Given the description of an element on the screen output the (x, y) to click on. 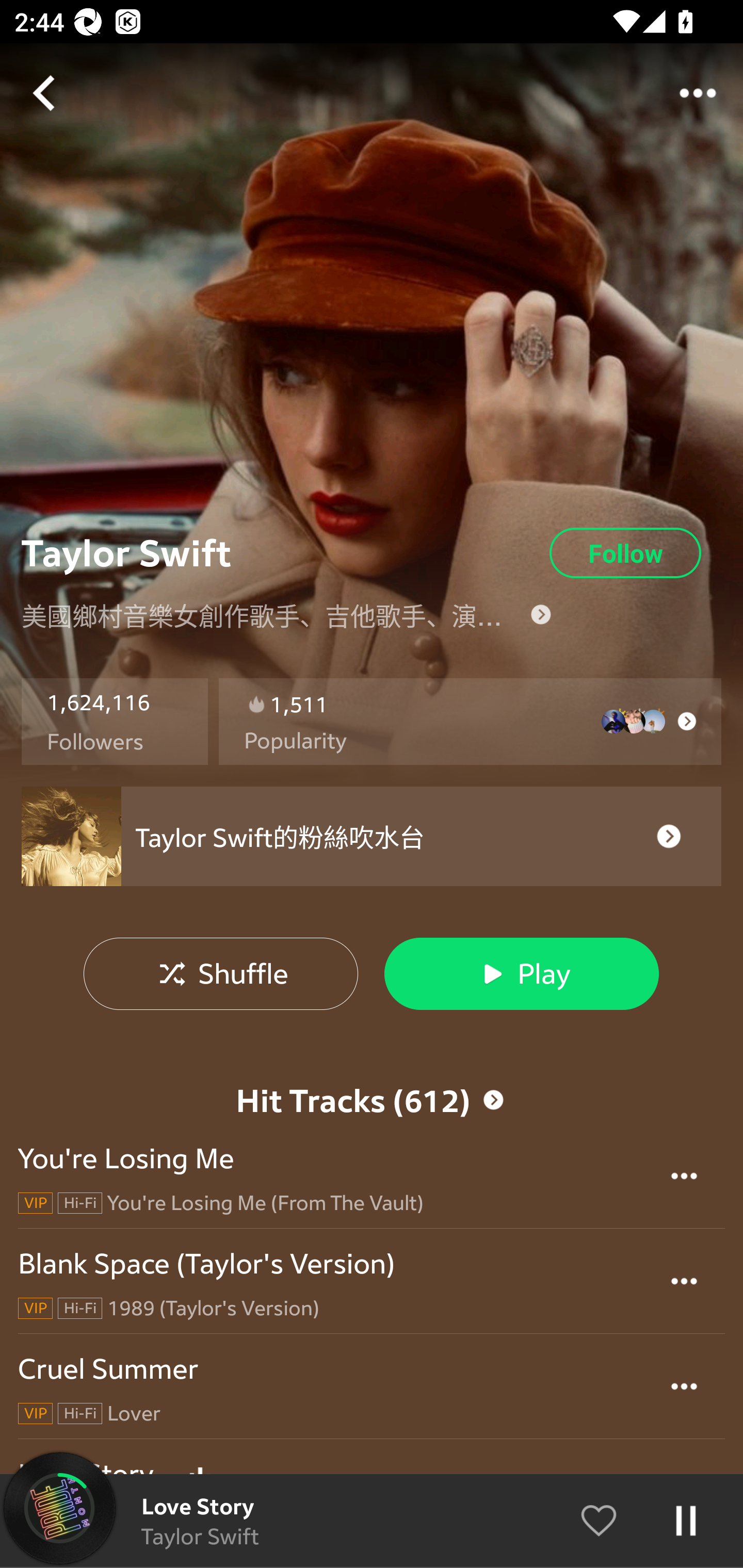
Follow (625, 553)
1,511 Popularity (469, 721)
Popularity (294, 740)
Taylor Swift的粉絲吹水台 (371, 836)
Shuffle (220, 973)
Play (521, 973)
Hit Tracks (612) (371, 1099)
Cruel Summer VIP Hi-Fi Lover (371, 1386)
Love Story Taylor Swift (371, 1520)
